Given the description of an element on the screen output the (x, y) to click on. 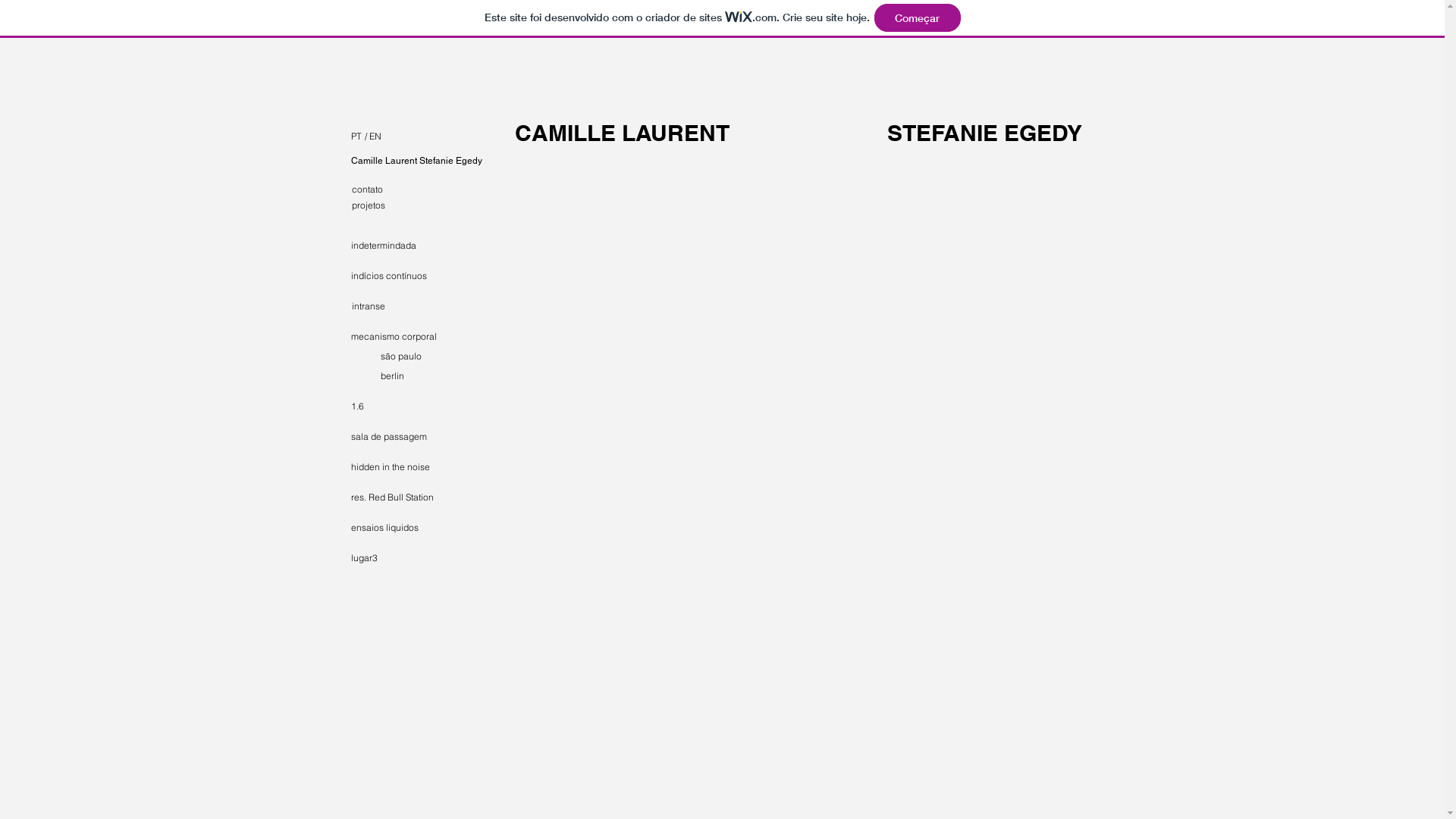
intranse Element type: text (407, 306)
lugar3 Element type: text (404, 557)
sala de passagem Element type: text (404, 436)
External YouTube Element type: hover (696, 491)
ensaios liquidos Element type: text (404, 527)
indetermindada Element type: text (404, 245)
projetos Element type: text (405, 205)
res. Red Bull Station Element type: text (405, 497)
mecanismo corporal Element type: text (405, 336)
External YouTube Element type: hover (695, 265)
hidden in the noise Element type: text (401, 466)
contato Element type: text (405, 189)
Camille Laurent Stefanie Egedy Element type: text (415, 160)
1.6 Element type: text (382, 406)
berlin Element type: text (434, 375)
CAMILLE LAURENT                          STEFANIE EGEDY Element type: text (797, 132)
PT Element type: text (323, 136)
/ EN Element type: text (402, 136)
